Given the description of an element on the screen output the (x, y) to click on. 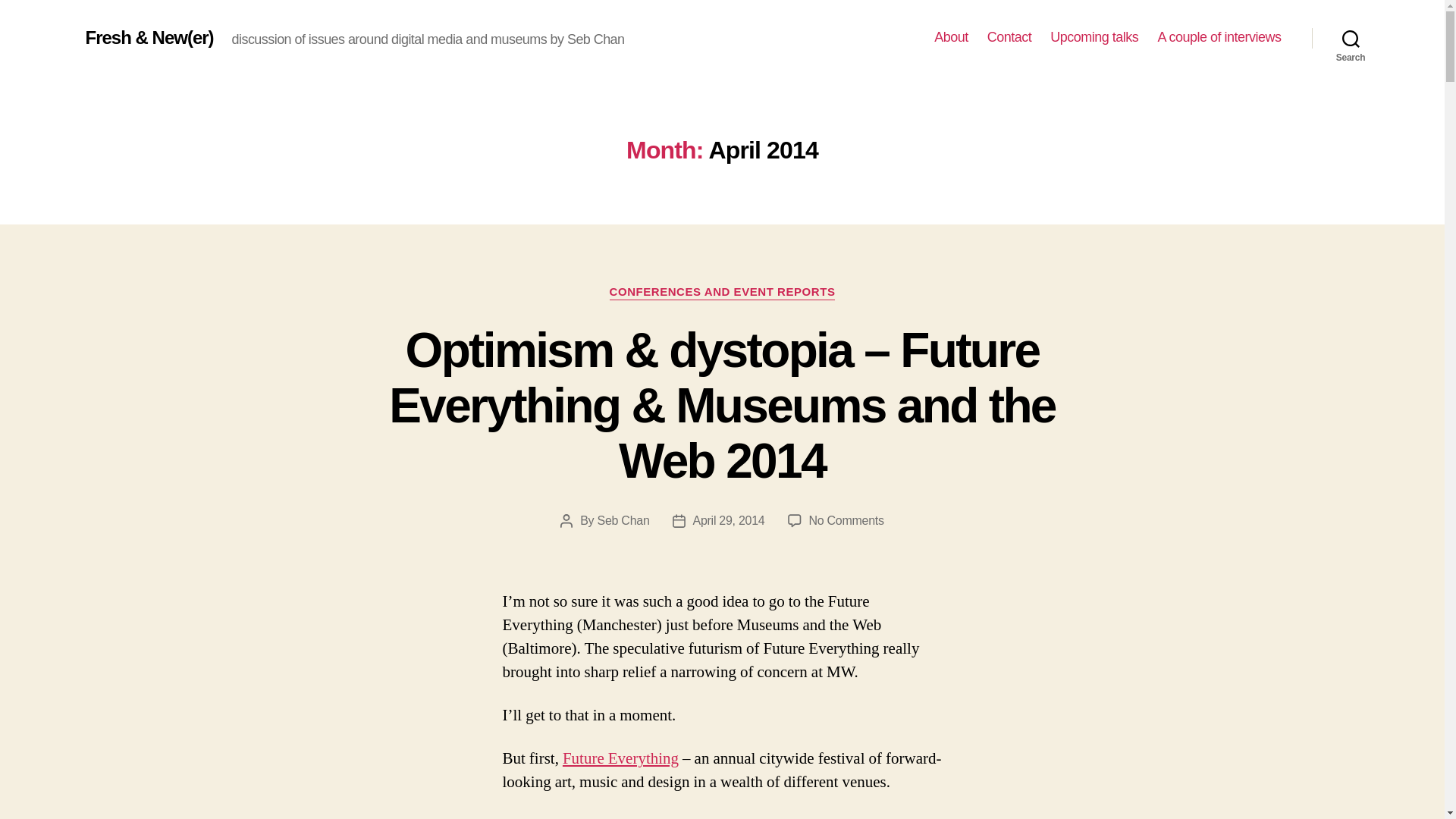
Future Everything (620, 758)
A couple of interviews (1219, 37)
About (951, 37)
Contact (1009, 37)
April 29, 2014 (729, 520)
Upcoming talks (1093, 37)
Search (1350, 37)
CONFERENCES AND EVENT REPORTS (722, 292)
Seb Chan (622, 520)
